Given the description of an element on the screen output the (x, y) to click on. 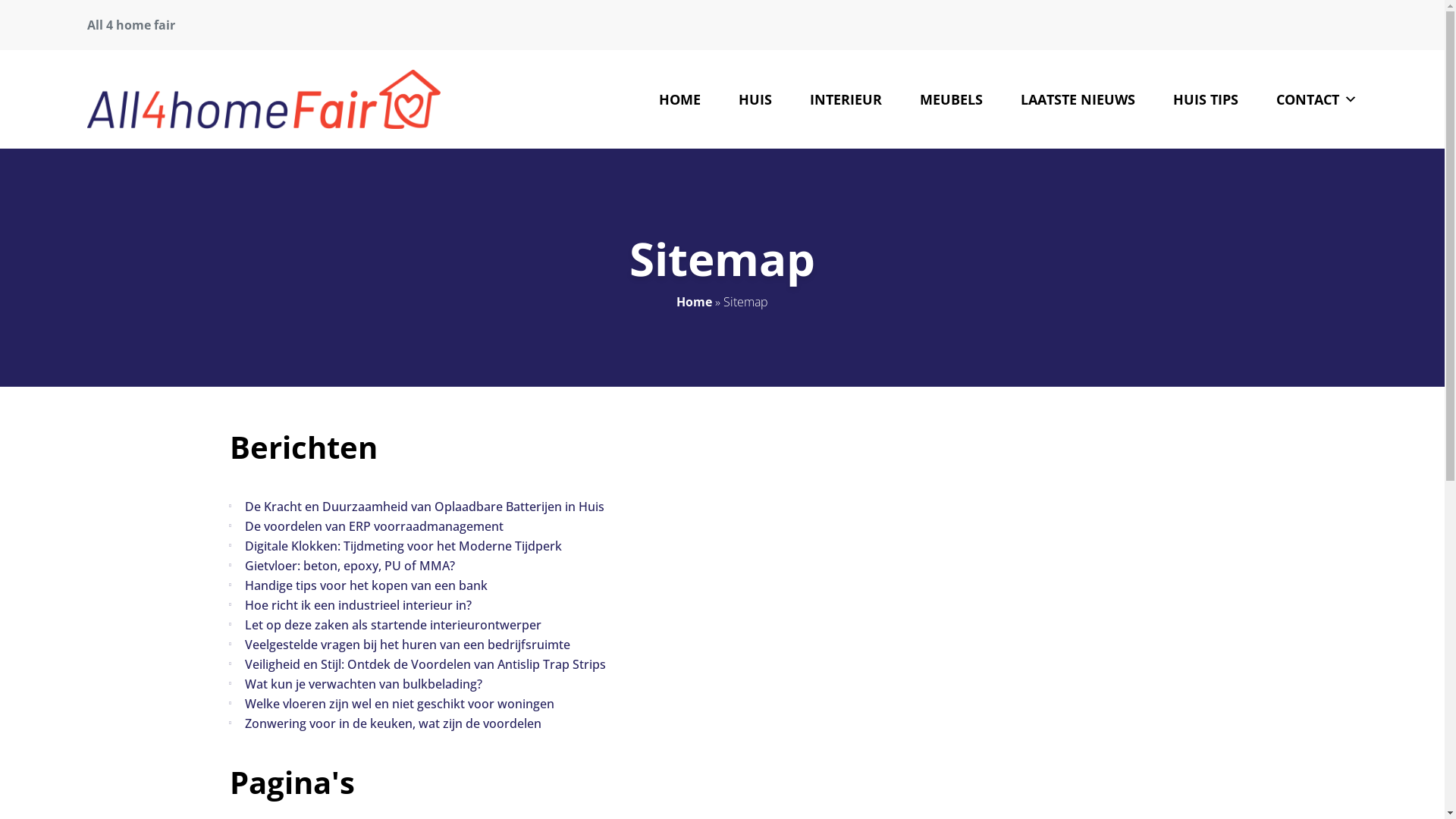
Hoe richt ik een industrieel interieur in? Element type: text (357, 604)
Home Element type: text (694, 301)
Welke vloeren zijn wel en niet geschikt voor woningen Element type: text (398, 703)
all 4 home fair Element type: hover (263, 99)
LAATSTE NIEUWS Element type: text (1077, 99)
HUIS Element type: text (754, 99)
HOME Element type: text (679, 99)
De voordelen van ERP voorraadmanagement Element type: text (373, 525)
Veelgestelde vragen bij het huren van een bedrijfsruimte Element type: text (406, 644)
Digitale Klokken: Tijdmeting voor het Moderne Tijdperk Element type: text (402, 545)
INTERIEUR Element type: text (845, 99)
Handige tips voor het kopen van een bank Element type: text (365, 585)
Wat kun je verwachten van bulkbelading? Element type: text (362, 683)
Let op deze zaken als startende interieurontwerper Element type: text (392, 624)
Zonwering voor in de keuken, wat zijn de voordelen Element type: text (392, 723)
Gietvloer: beton, epoxy, PU of MMA? Element type: text (349, 565)
De Kracht en Duurzaamheid van Oplaadbare Batterijen in Huis Element type: text (423, 506)
CONTACT Element type: text (1316, 99)
MEUBELS Element type: text (950, 99)
HUIS TIPS Element type: text (1205, 99)
